Given the description of an element on the screen output the (x, y) to click on. 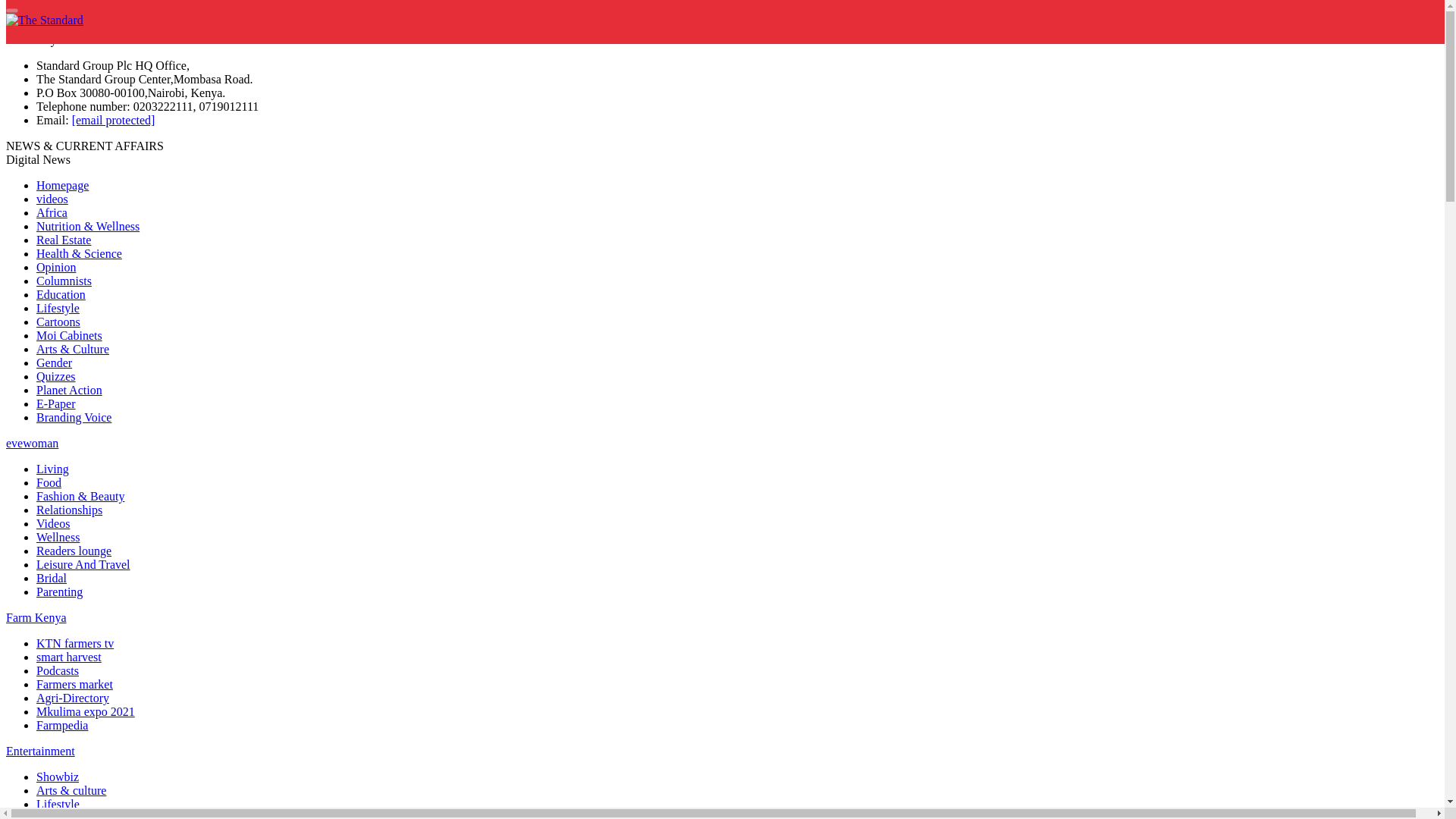
Branding Voice (74, 417)
videos (52, 198)
Bridal (51, 577)
Agri-Directory (72, 697)
Columnists (63, 280)
Food (48, 481)
Real Estate (63, 239)
Moi Cabinets (68, 335)
Education (60, 294)
